Given the description of an element on the screen output the (x, y) to click on. 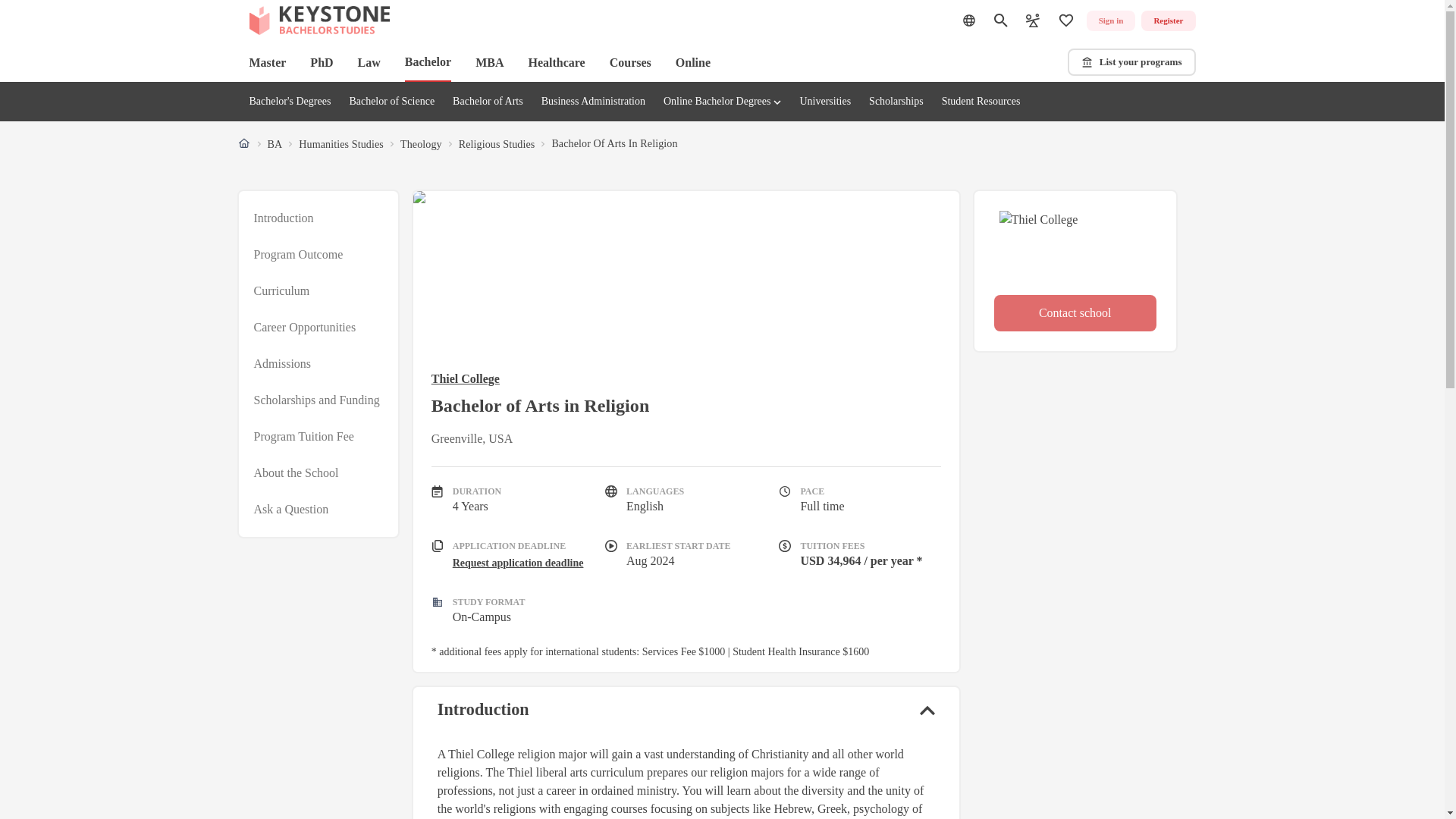
Bachelor of Science (391, 101)
Online (692, 63)
Scholarships and Funding (315, 400)
Healthcare (556, 63)
Ask a Question (291, 509)
Program Outcome (297, 254)
Register (1168, 20)
Curriculum (280, 290)
Bachelor of Arts (487, 101)
Career Opportunities (304, 327)
Courses (630, 63)
Bachelor's Degrees (289, 101)
Program Tuition Fee (303, 436)
